Given the description of an element on the screen output the (x, y) to click on. 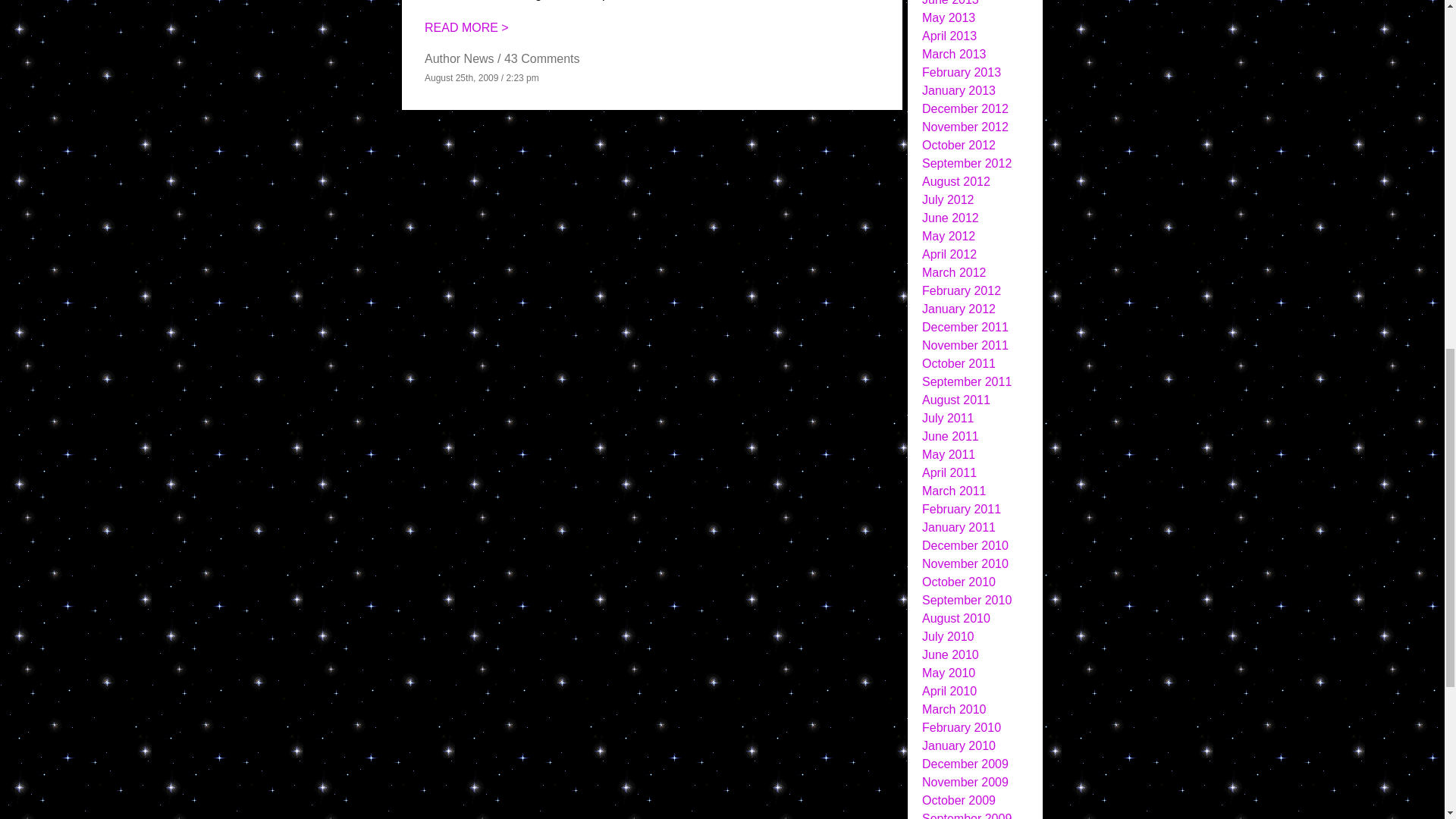
43 Comments (541, 58)
Author News (460, 58)
